Given the description of an element on the screen output the (x, y) to click on. 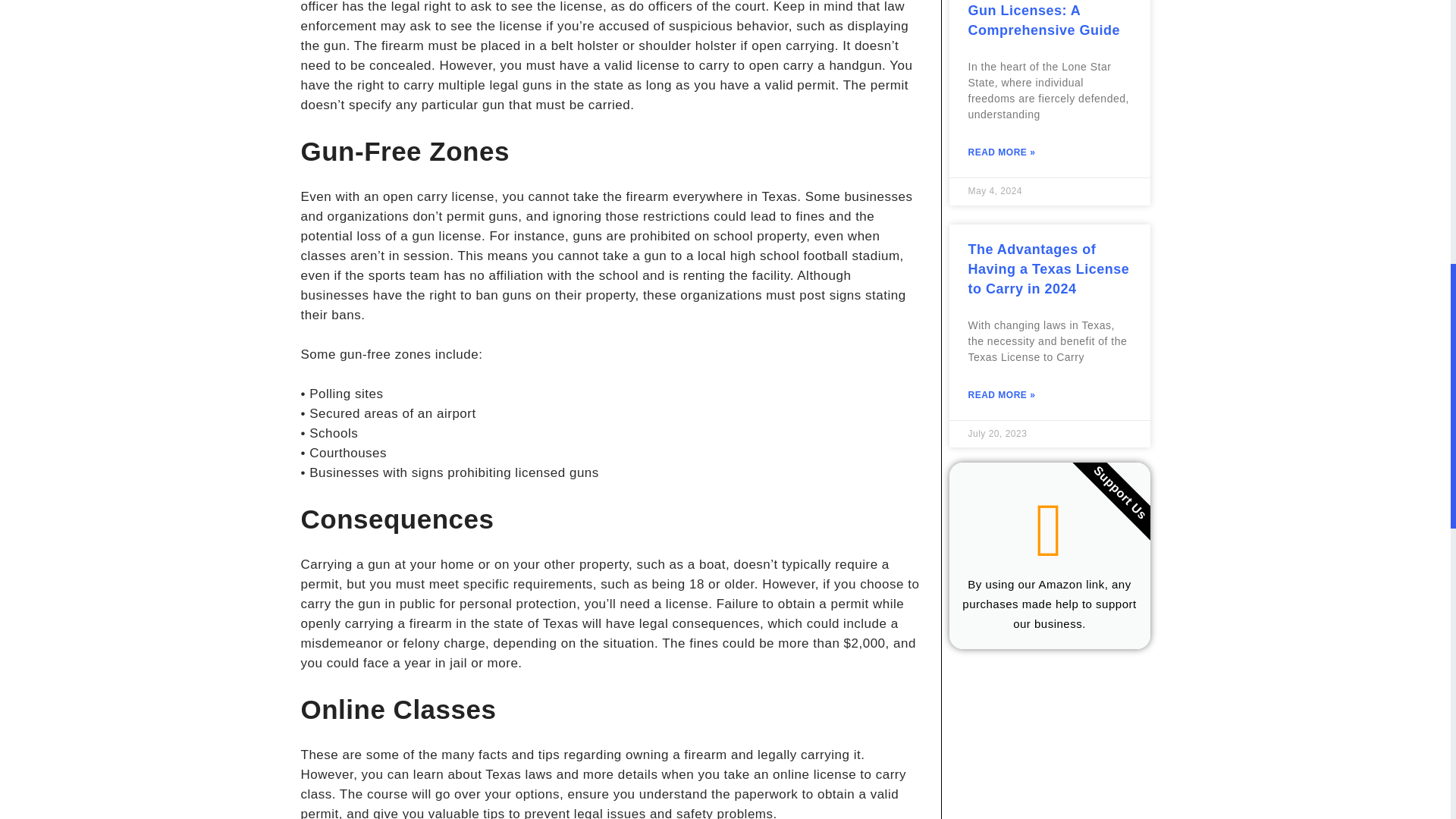
The Advantages of Having a Texas License to Carry in 2024 (1048, 268)
Understanding Texas Gun Licenses: A Comprehensive Guide (1043, 18)
